Given the description of an element on the screen output the (x, y) to click on. 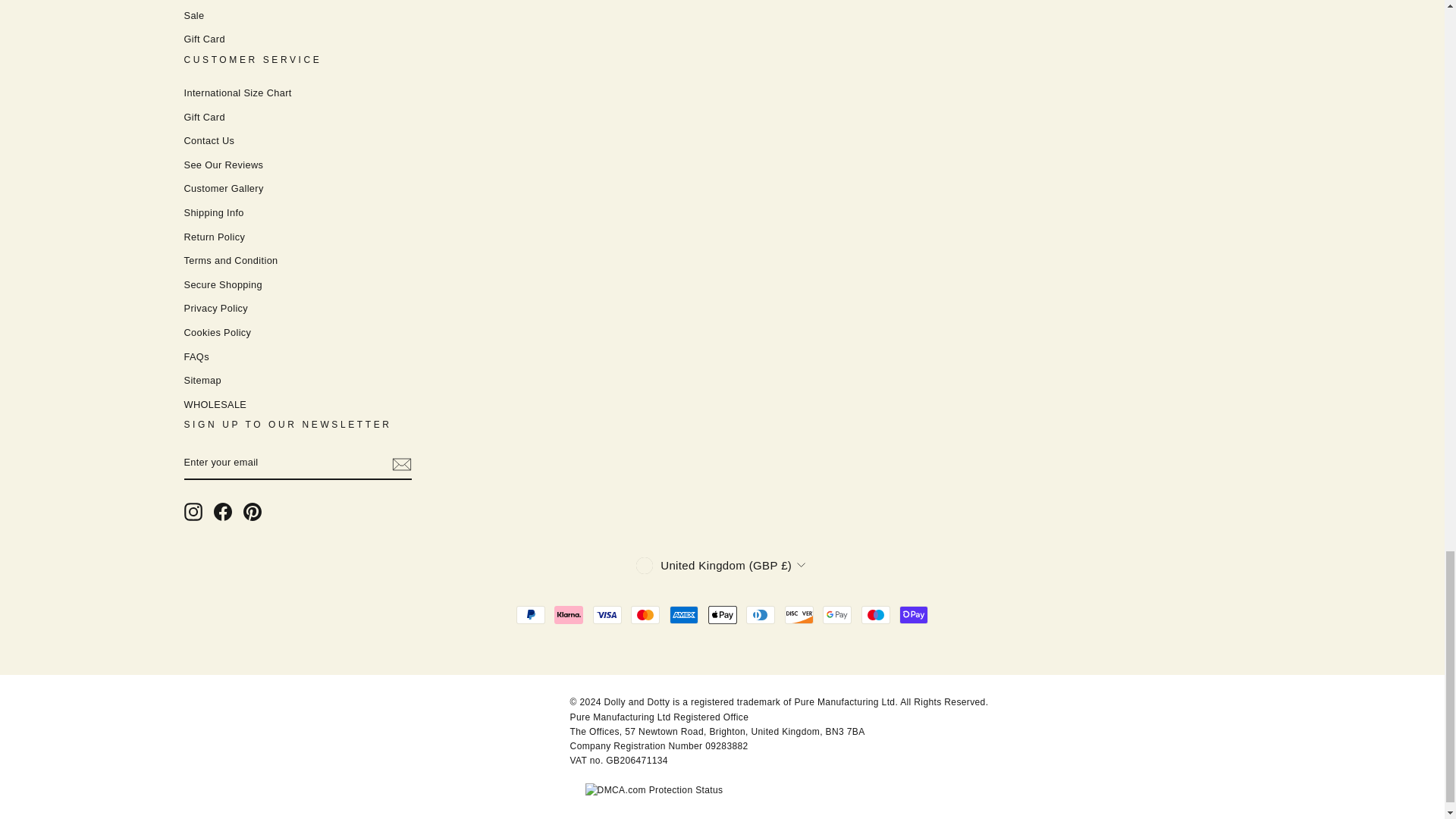
Dolly and Dotty on Pinterest (251, 511)
Diners Club (759, 615)
PayPal (530, 615)
American Express (683, 615)
DMCA.com Protection Status (654, 789)
Mastercard (644, 615)
Klarna (568, 615)
Google Pay (836, 615)
Apple Pay (721, 615)
Visa (606, 615)
Dolly and Dotty on Instagram (192, 511)
Discover (798, 615)
Dolly and Dotty on Facebook (222, 511)
